Given the description of an element on the screen output the (x, y) to click on. 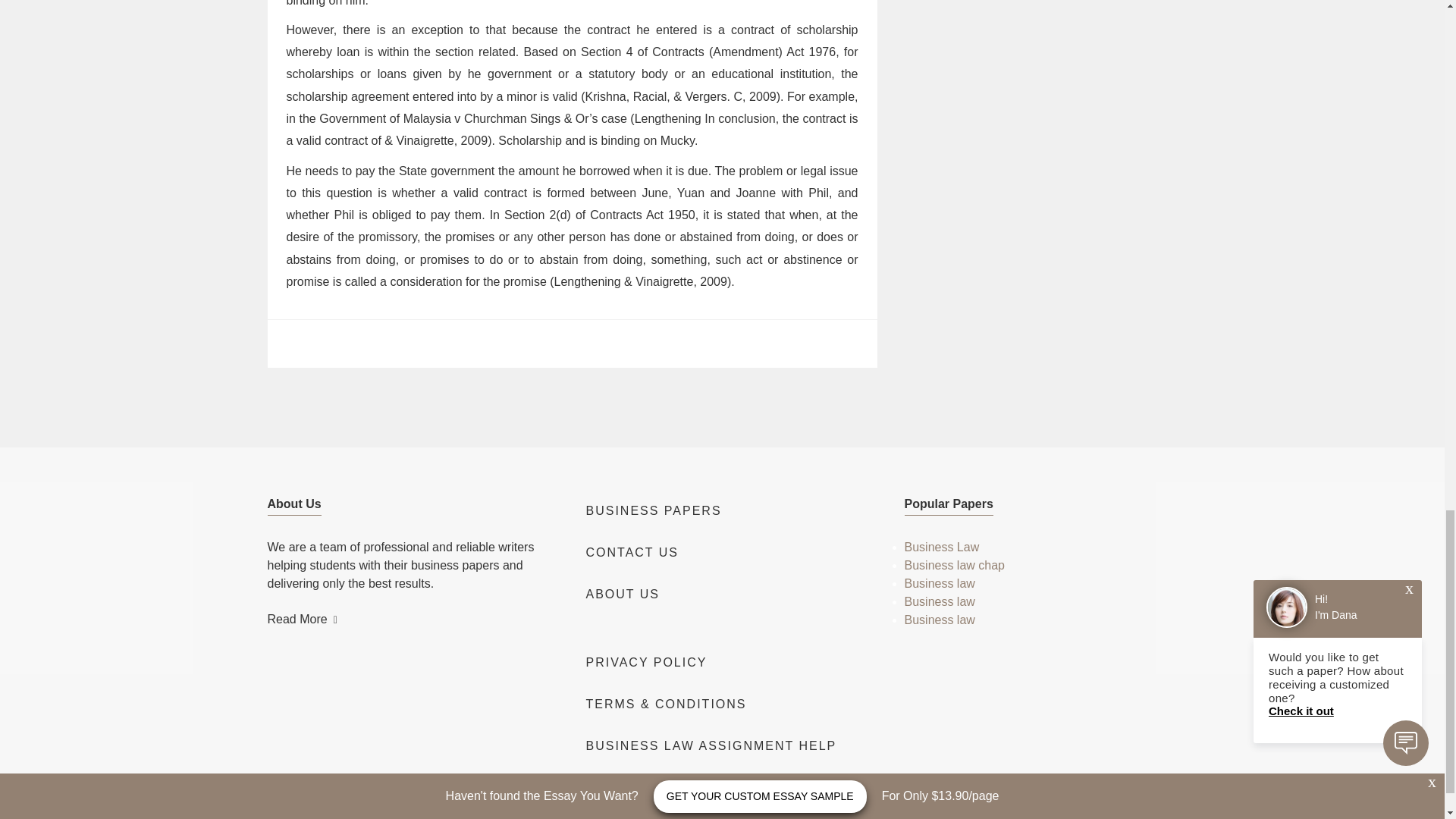
Business law (939, 601)
Business law (939, 583)
Business Law (941, 546)
Business law chap (954, 564)
